Given the description of an element on the screen output the (x, y) to click on. 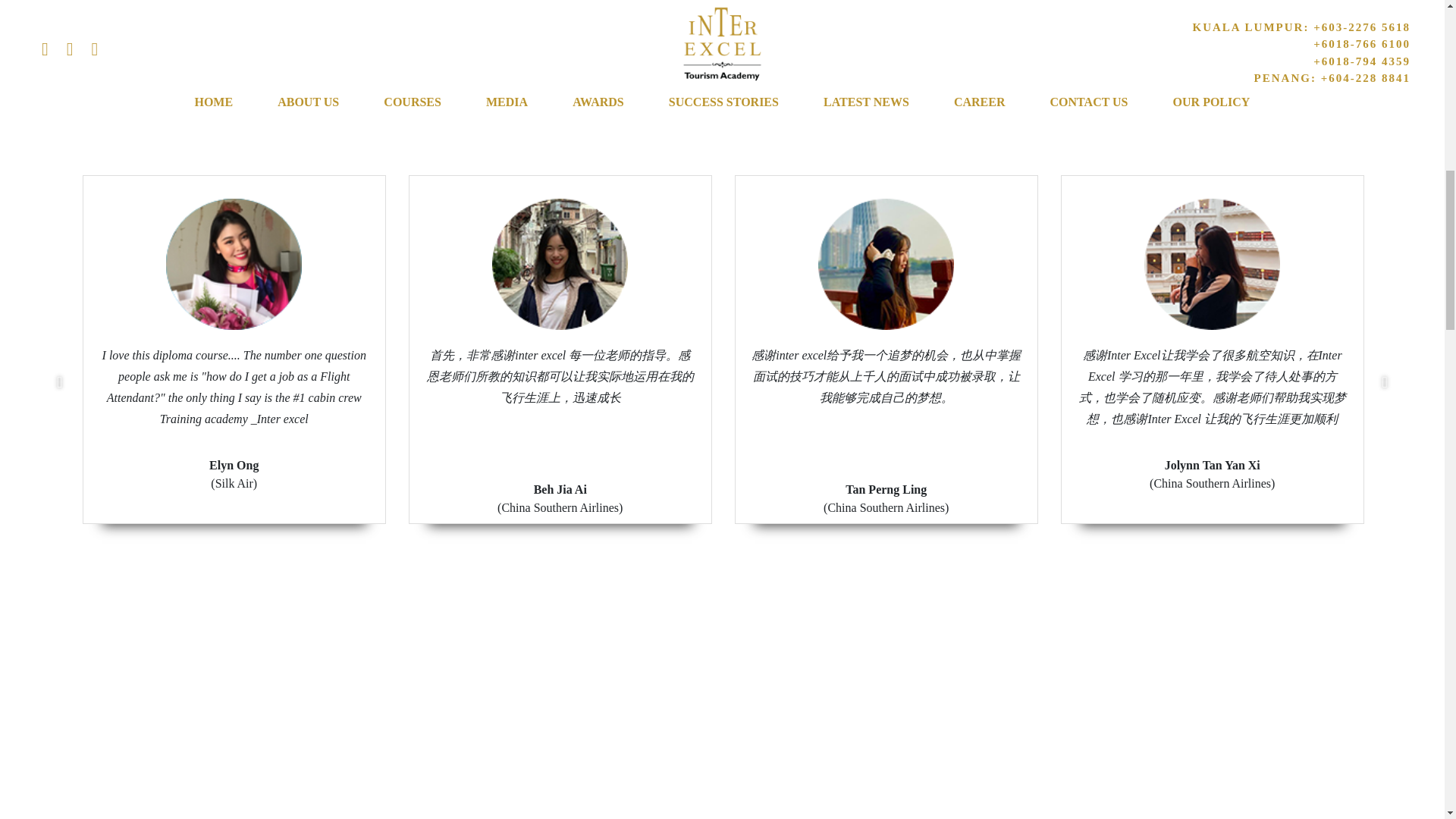
Previous (59, 381)
Next (1384, 381)
